Given the description of an element on the screen output the (x, y) to click on. 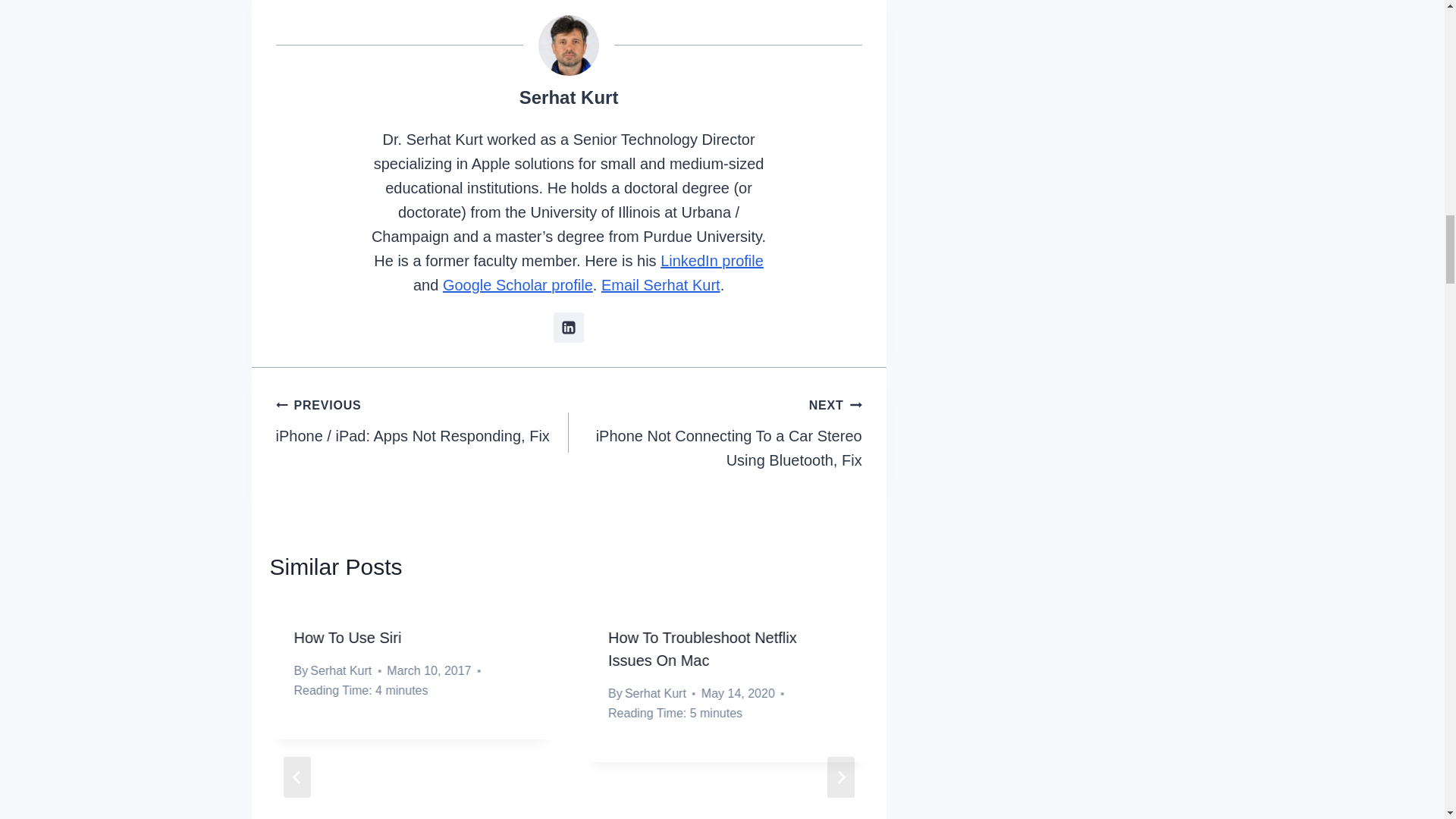
Follow Serhat Kurt on Linkedin (568, 327)
Google Scholar profile (517, 284)
Serhat Kurt (568, 96)
LinkedIn profile (711, 260)
Email Serhat Kurt (660, 284)
Posts by Serhat Kurt (568, 96)
